Given the description of an element on the screen output the (x, y) to click on. 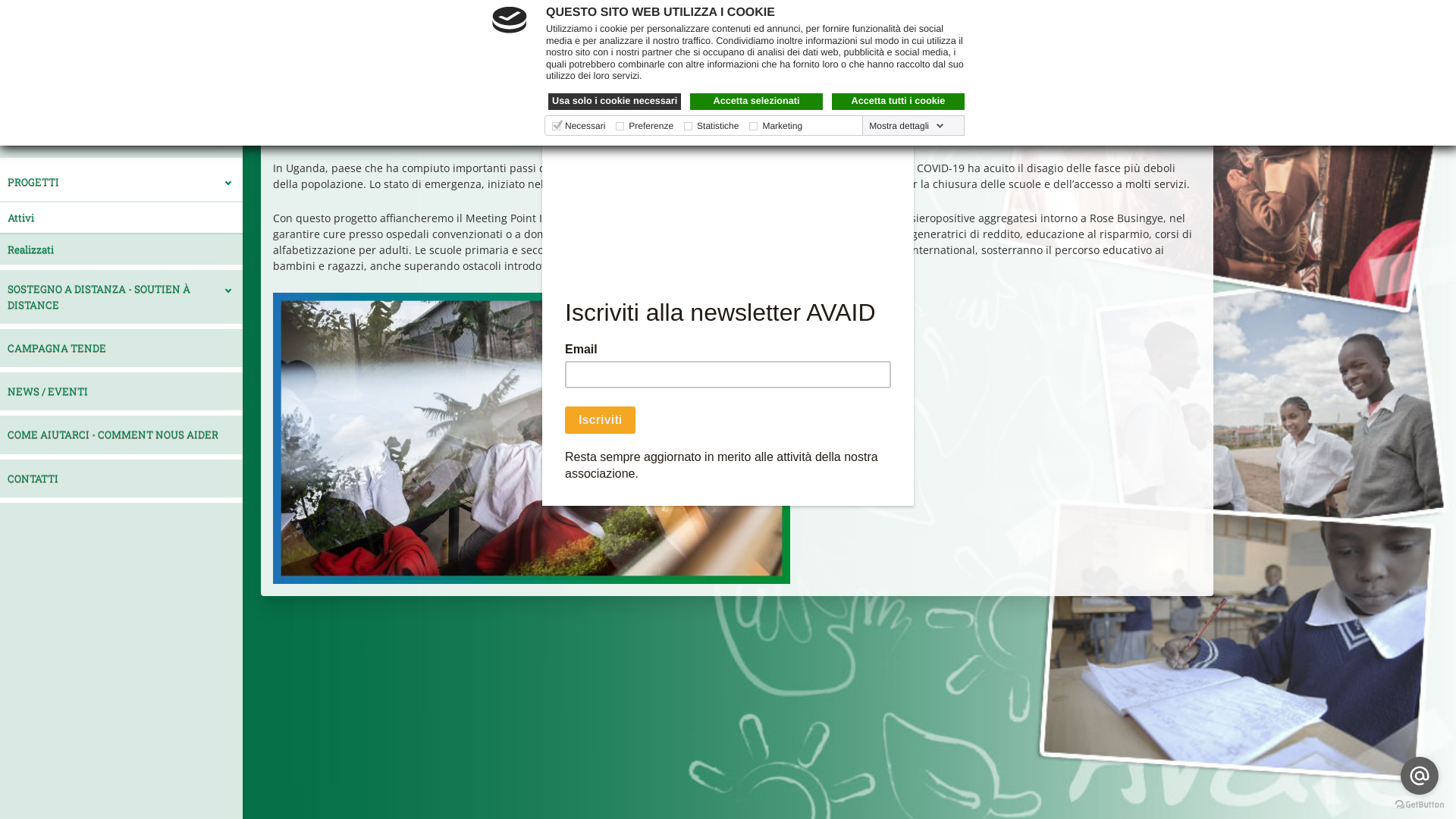
NEWS / EVENTI Element type: text (121, 391)
PROGETTI Element type: text (121, 181)
Realizzati Element type: text (121, 248)
Mostra dettagli Element type: text (906, 125)
Usa solo i cookie necessari Element type: text (614, 101)
Accetta selezionati Element type: text (756, 101)
Accetta tutti i cookie Element type: text (897, 101)
CONTATTI Element type: text (121, 478)
CHI SIAMO Element type: text (121, 137)
Attivi Element type: text (121, 216)
CAMPAGNA TENDE Element type: text (121, 348)
HOME Element type: text (121, 94)
COME AIUTARCI - COMMENT NOUS AIDER Element type: text (121, 434)
